Given the description of an element on the screen output the (x, y) to click on. 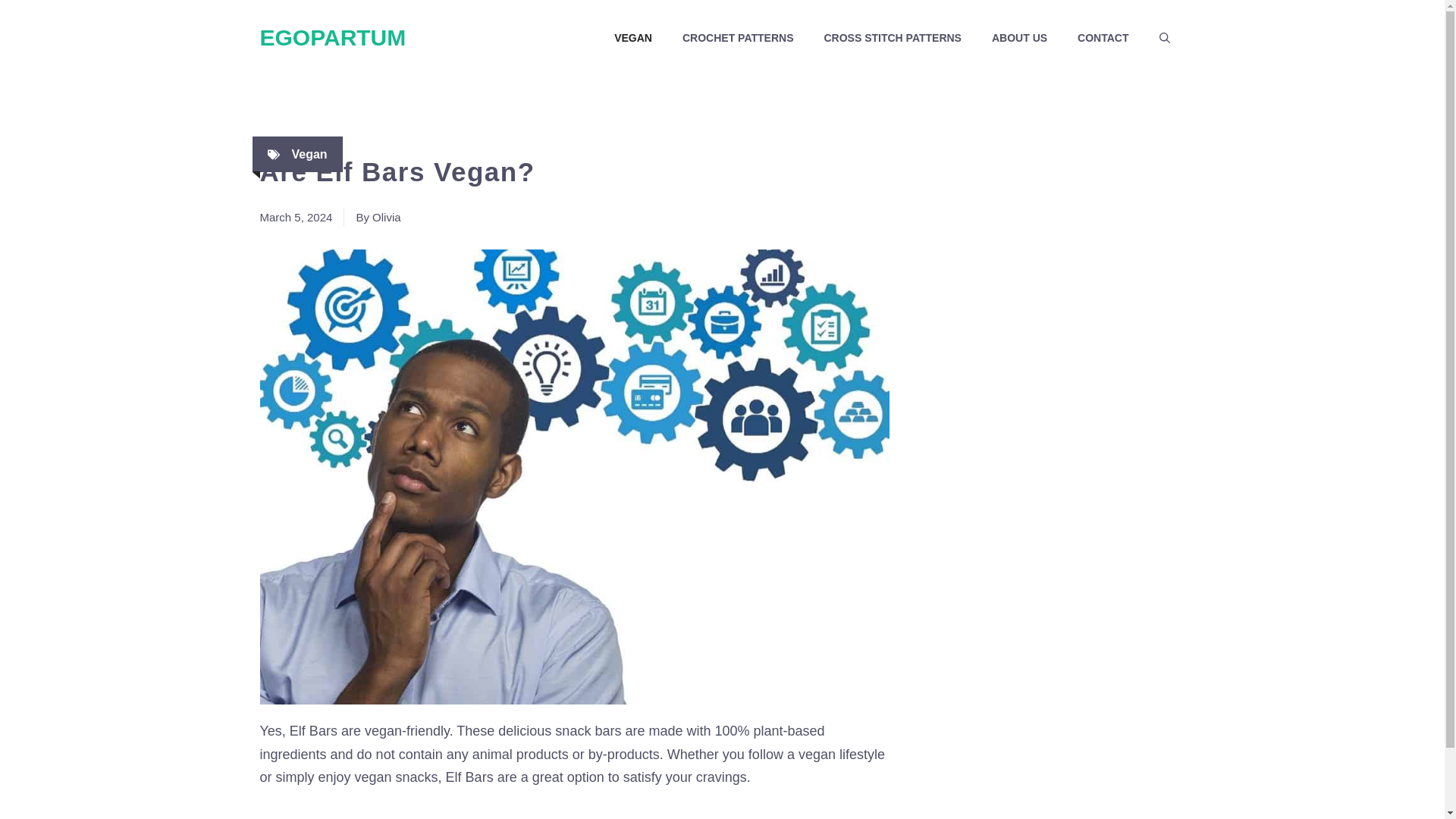
CONTACT (1102, 37)
CROCHET PATTERNS (737, 37)
EGOPARTUM (332, 37)
ABOUT US (1019, 37)
VEGAN (632, 37)
Vegan (308, 154)
CROSS STITCH PATTERNS (892, 37)
